Given the description of an element on the screen output the (x, y) to click on. 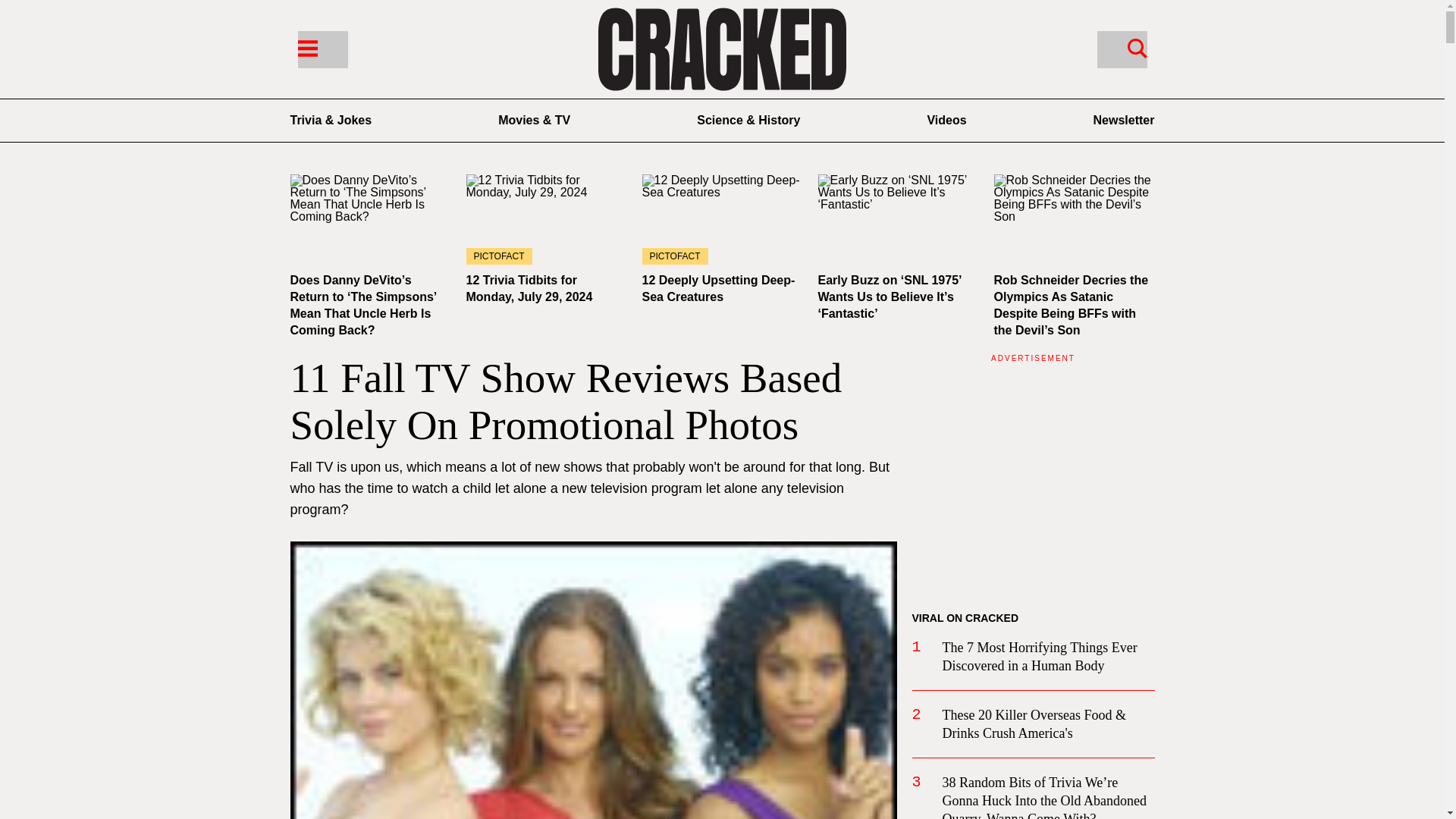
12 Trivia Tidbits for Monday, July 29, 2024 (528, 288)
Menu (307, 47)
Menu (322, 48)
Cracked Newsletter (1123, 119)
Videos (946, 119)
Search (1136, 47)
PICTOFACT (722, 219)
Search (1121, 48)
12 Trivia Tidbits for Monday, July 29, 2024 (545, 219)
Videos (946, 119)
Newsletter (1123, 119)
PICTOFACT (545, 219)
12 Deeply Upsetting Deep-Sea Creatures (718, 288)
